Given the description of an element on the screen output the (x, y) to click on. 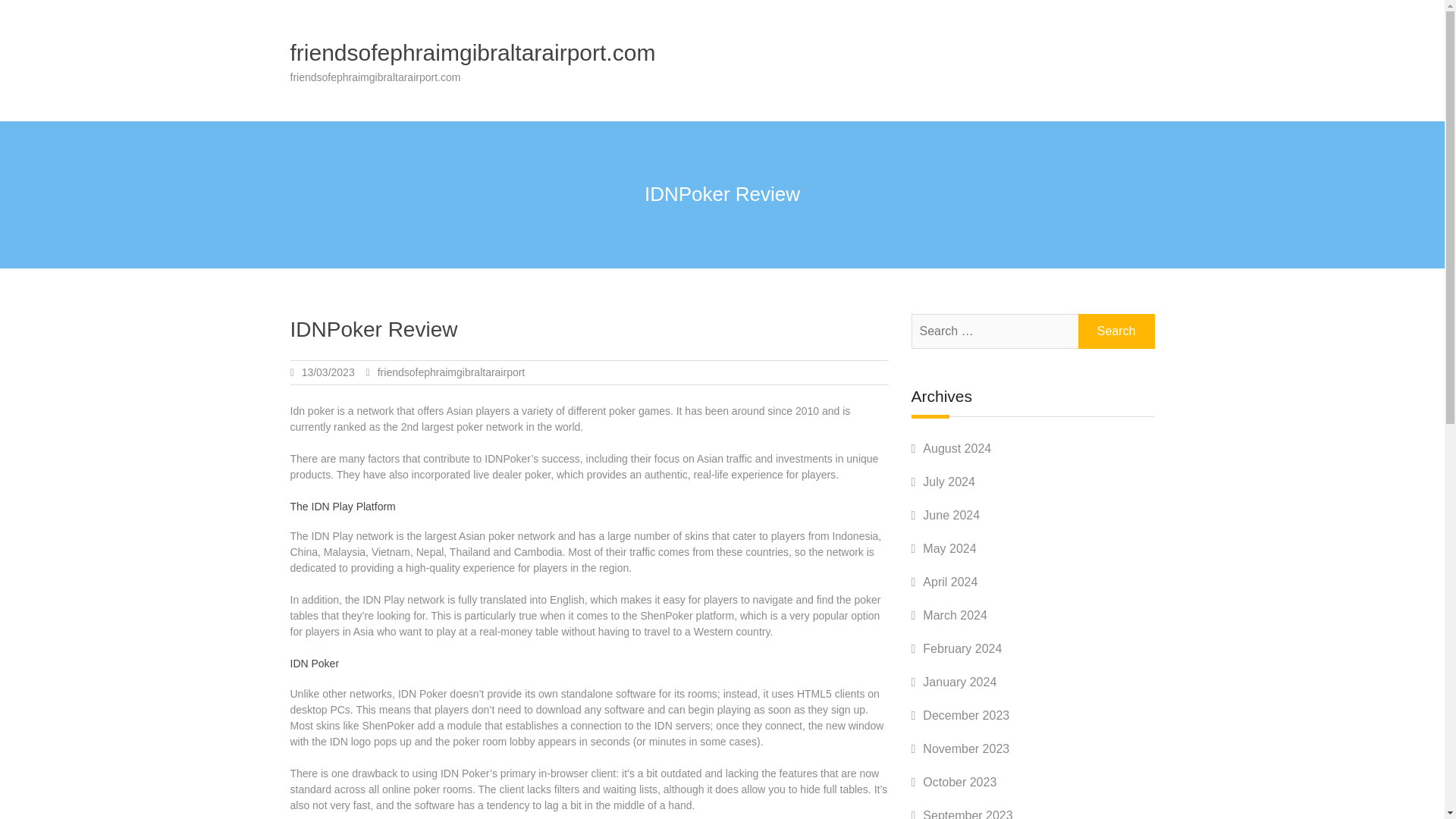
May 2024 (949, 548)
January 2024 (959, 681)
June 2024 (951, 514)
August 2024 (957, 448)
friendsofephraimgibraltarairport.com (472, 52)
March 2024 (955, 615)
Search (1116, 330)
November 2023 (966, 748)
December 2023 (966, 715)
Search (1116, 330)
